Given the description of an element on the screen output the (x, y) to click on. 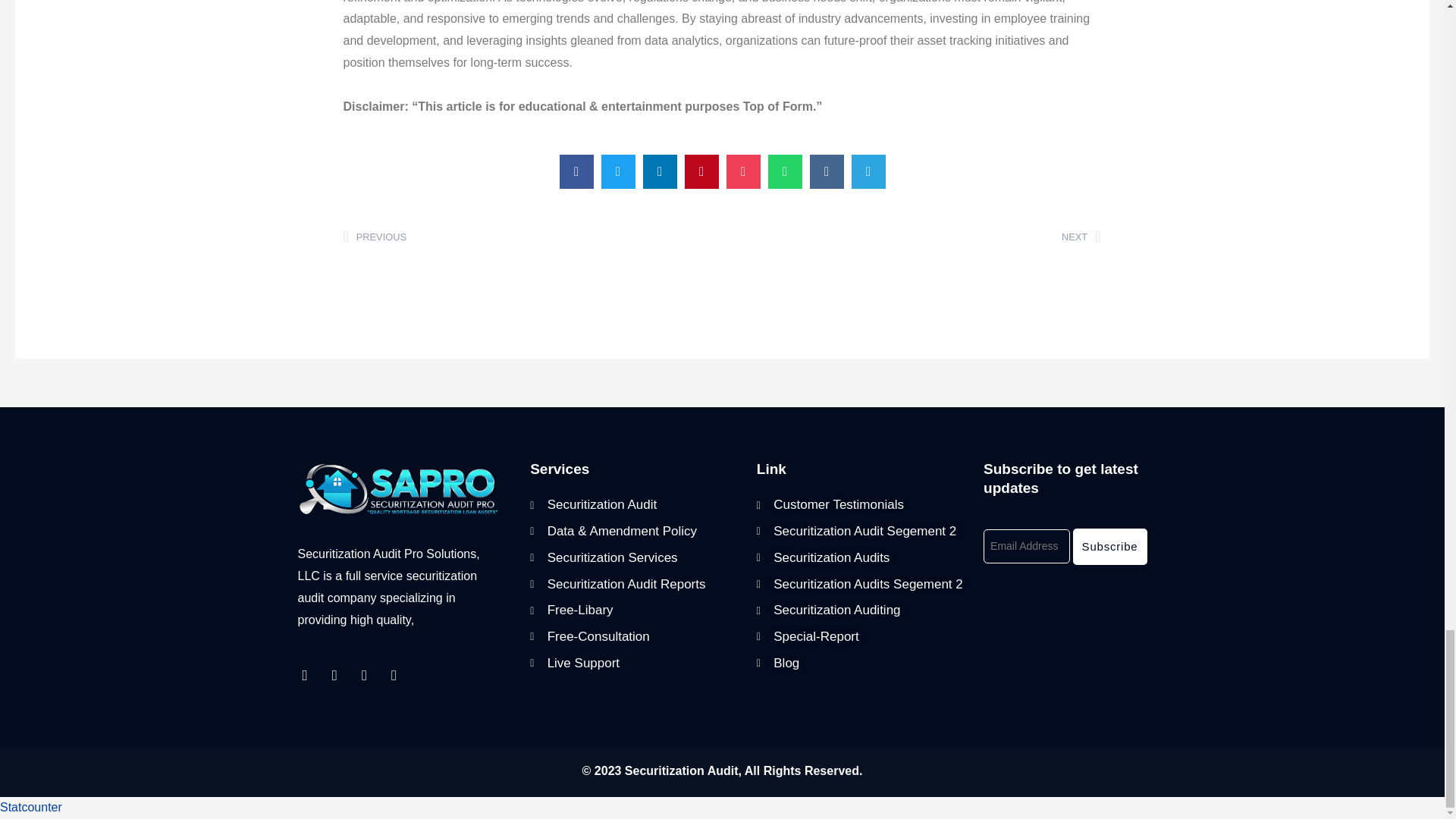
Statcounter (31, 807)
Securitization Audits Segement 2 (862, 584)
Linkedin (399, 680)
Subscribe (1110, 546)
Securitization Audit Segement 2 (862, 531)
Securitization Audit (911, 237)
Free-Libary (631, 505)
Instagram (631, 610)
Securitization Auditing (369, 680)
